Given the description of an element on the screen output the (x, y) to click on. 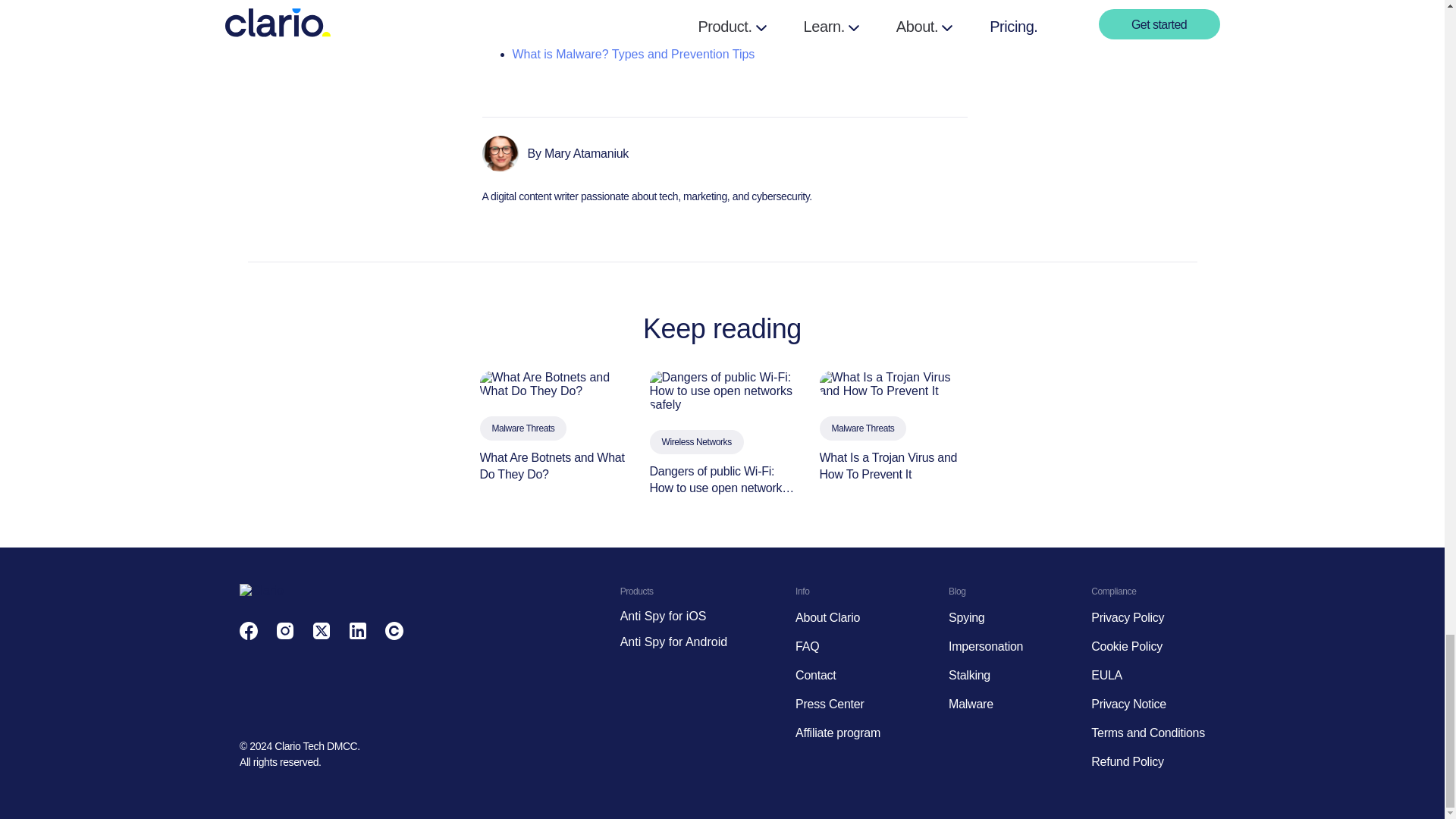
What Is a Trojan Virus and How To Prevent It (890, 384)
Dangers of public Wi-Fi: How to use open networks safely (721, 391)
Clario (261, 590)
What Are Botnets and What Do They Do? (551, 384)
